Given the description of an element on the screen output the (x, y) to click on. 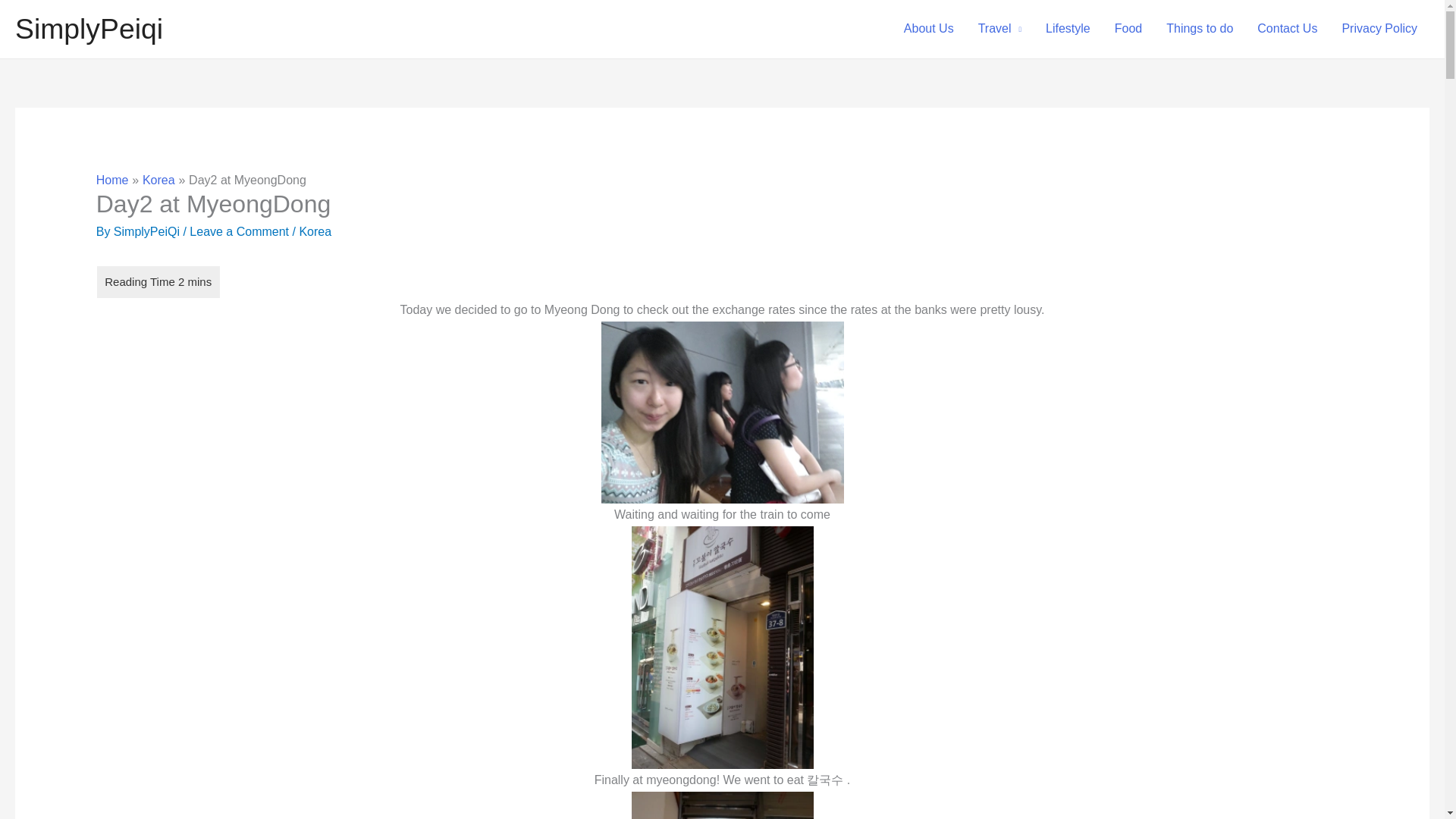
SimplyPeiQi (148, 231)
Privacy Policy (1379, 28)
SimplyPeiqi (88, 29)
Lifestyle (1067, 28)
About Us (928, 28)
Things to do (1199, 28)
Food (1128, 28)
Leave a Comment (238, 231)
View all posts by SimplyPeiQi (148, 231)
Contact Us (1286, 28)
